Given the description of an element on the screen output the (x, y) to click on. 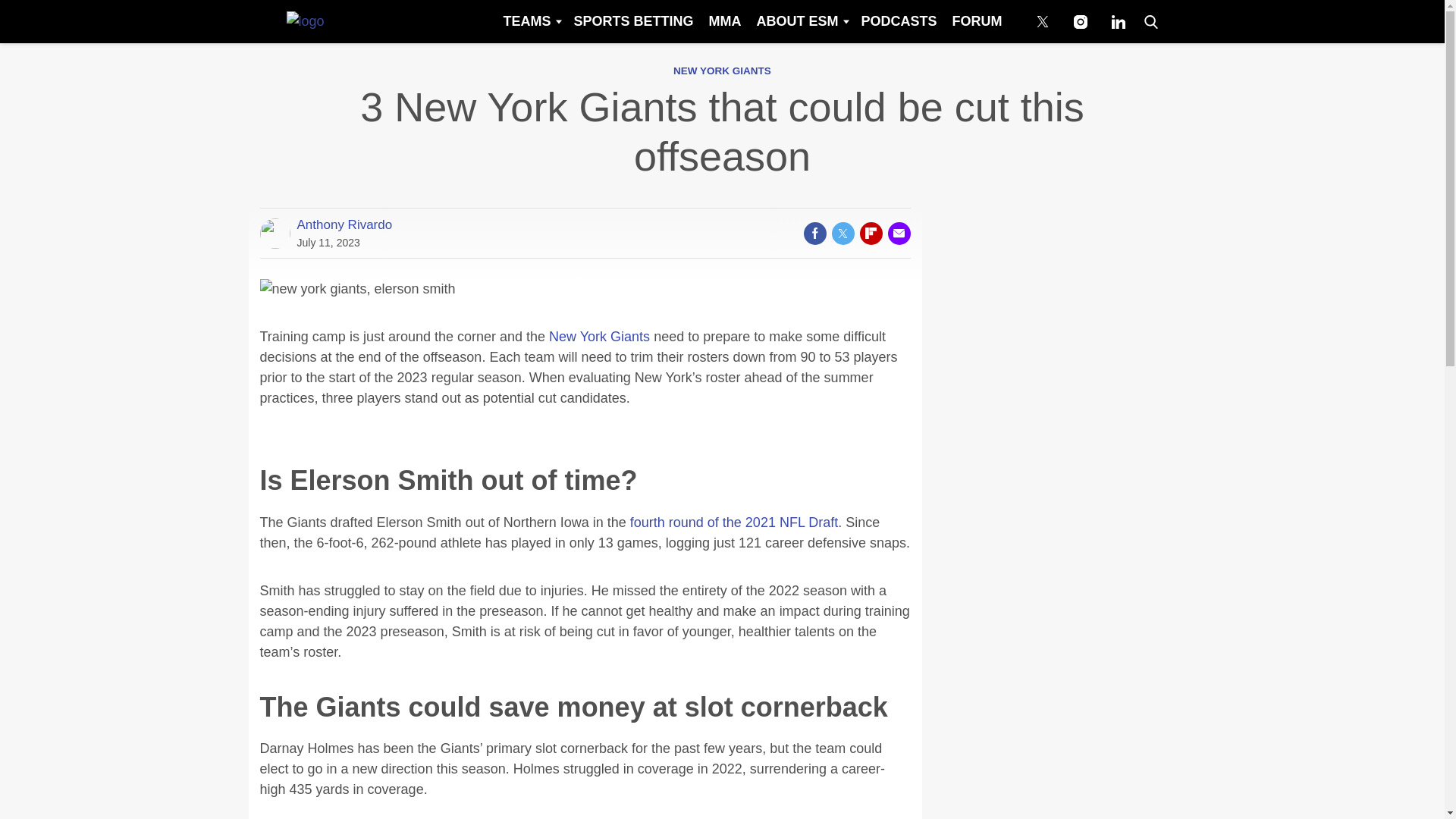
Share via Email (898, 232)
Anthony Rivardo (345, 225)
Share on Flipboard (871, 232)
SPORTS BETTING (633, 21)
Posts by Anthony Rivardo (345, 225)
New York Giants (598, 336)
Connect with us on LinkedIn (1118, 21)
MMA (724, 21)
Share on Facebook (815, 232)
Follow us on Instagram (1080, 21)
TEAMS (530, 21)
fourth round of the 2021 NFL Draft (734, 522)
PODCASTS (898, 21)
NEW YORK GIANTS (721, 70)
FORUM (977, 21)
